Given the description of an element on the screen output the (x, y) to click on. 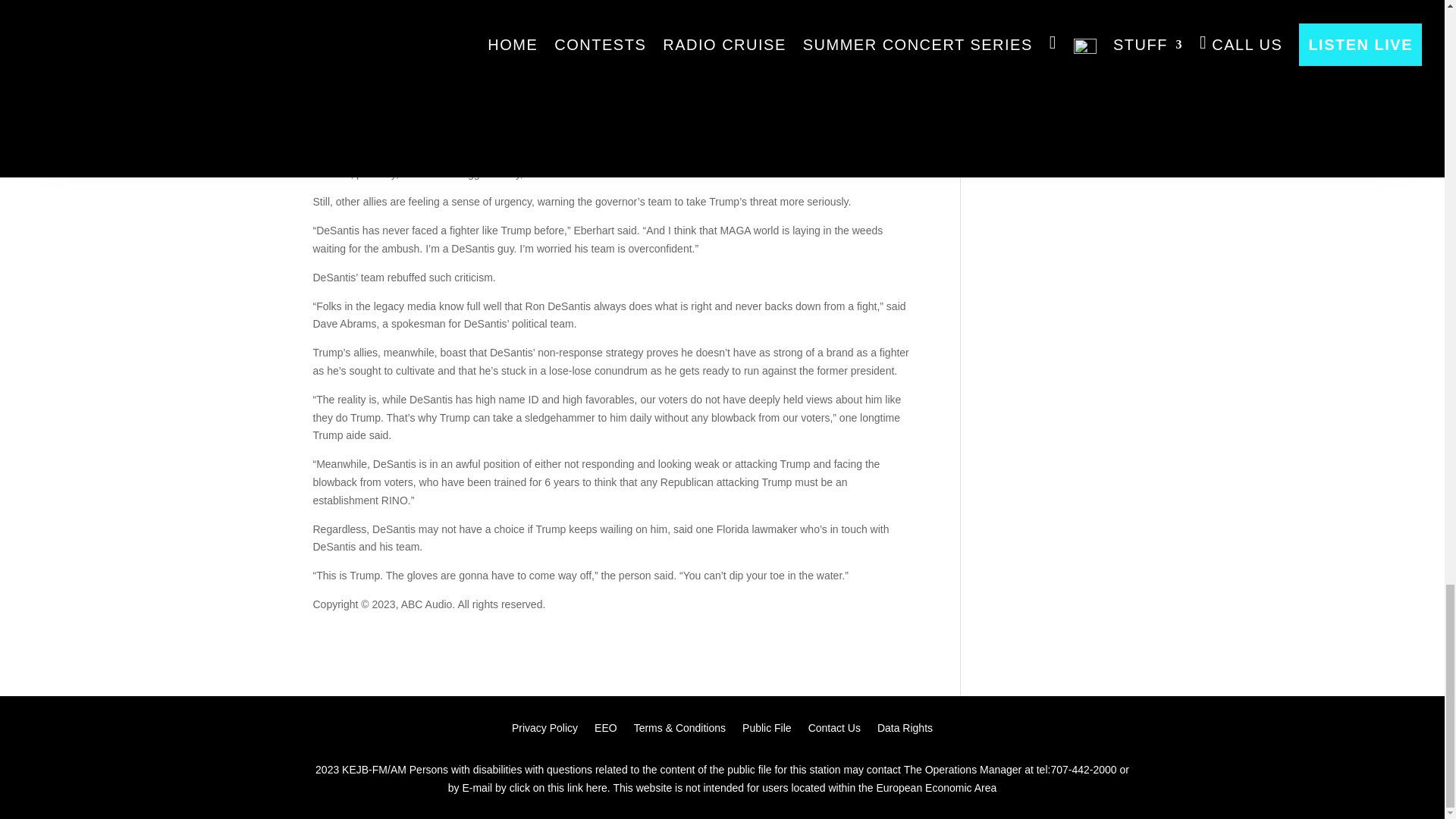
here (596, 788)
EEO (605, 730)
Data Rights (905, 730)
Public File (767, 730)
Contact Us (834, 730)
Privacy Policy (545, 730)
